Given the description of an element on the screen output the (x, y) to click on. 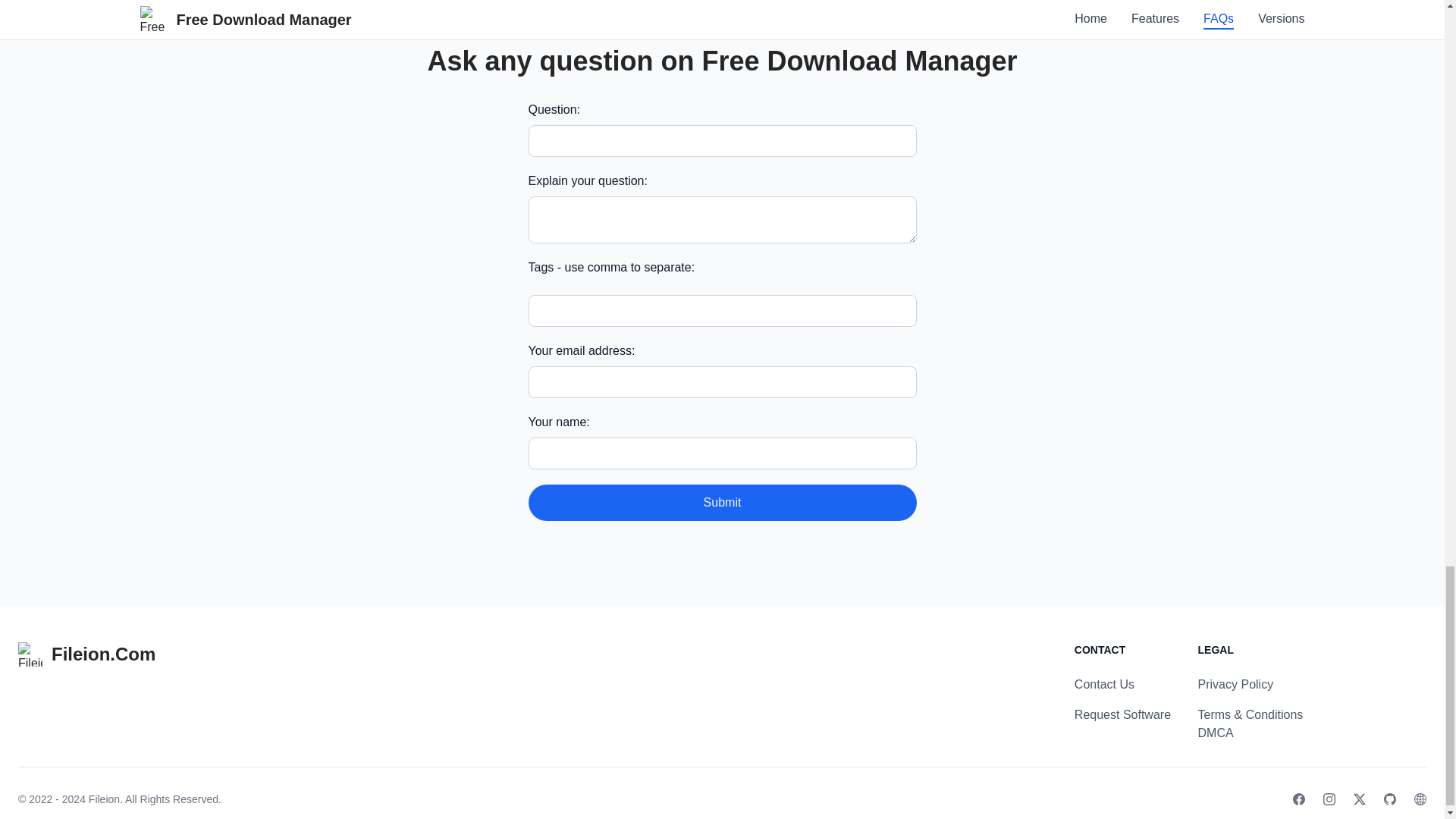
Request Software (1122, 714)
DMCA (1215, 732)
Privacy Policy (1236, 684)
Fileion (103, 799)
Fileion.Com (86, 654)
Submit (721, 502)
Contact Us (1104, 684)
